Given the description of an element on the screen output the (x, y) to click on. 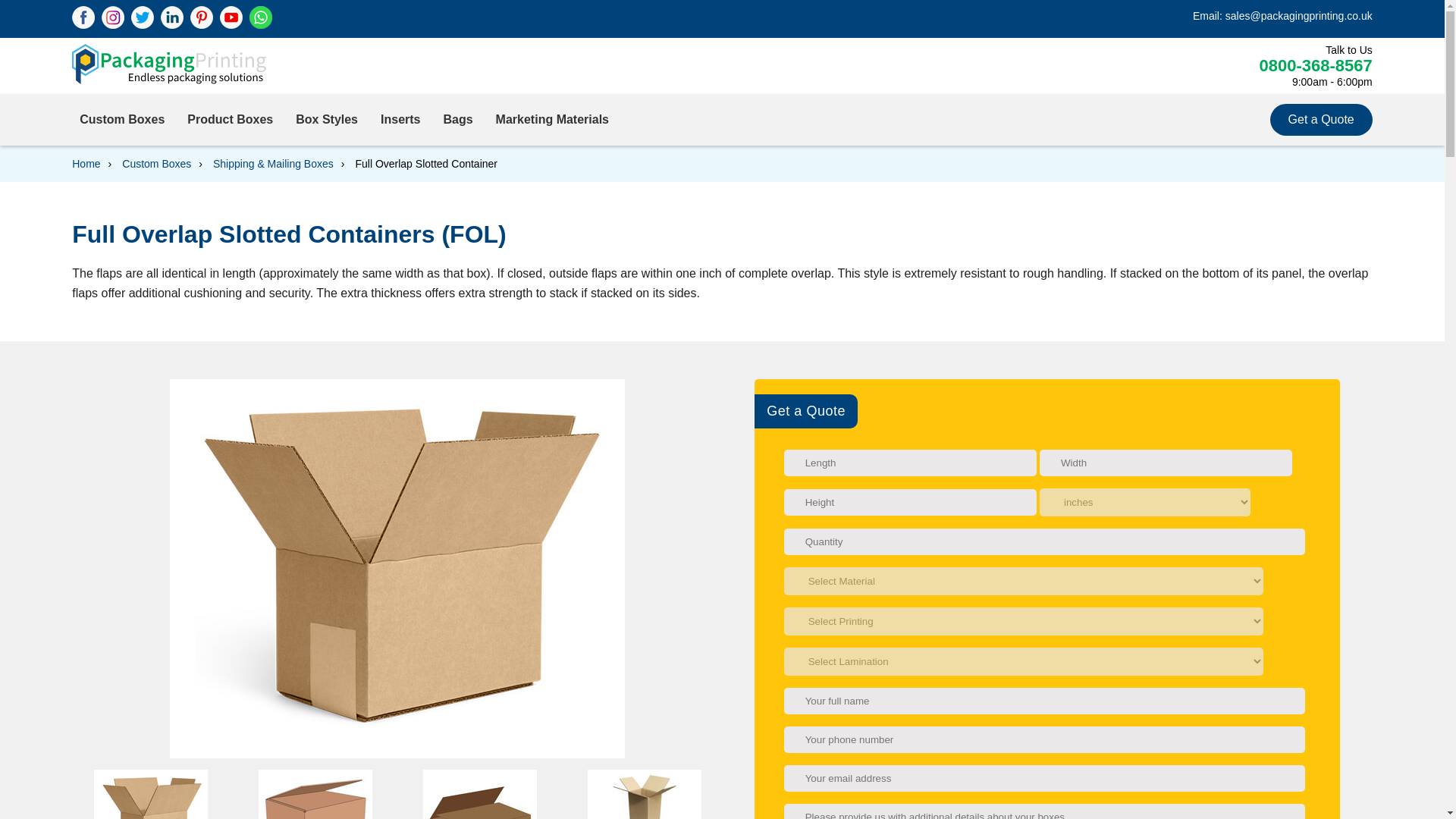
Custom Boxes (156, 163)
0800-368-8567 (1315, 65)
Box Styles (326, 119)
Custom Boxes (122, 119)
Get a Quote (1321, 118)
Home (85, 163)
Product Boxes (230, 119)
Bags (456, 119)
Inserts (400, 119)
Marketing Materials (552, 119)
